Given the description of an element on the screen output the (x, y) to click on. 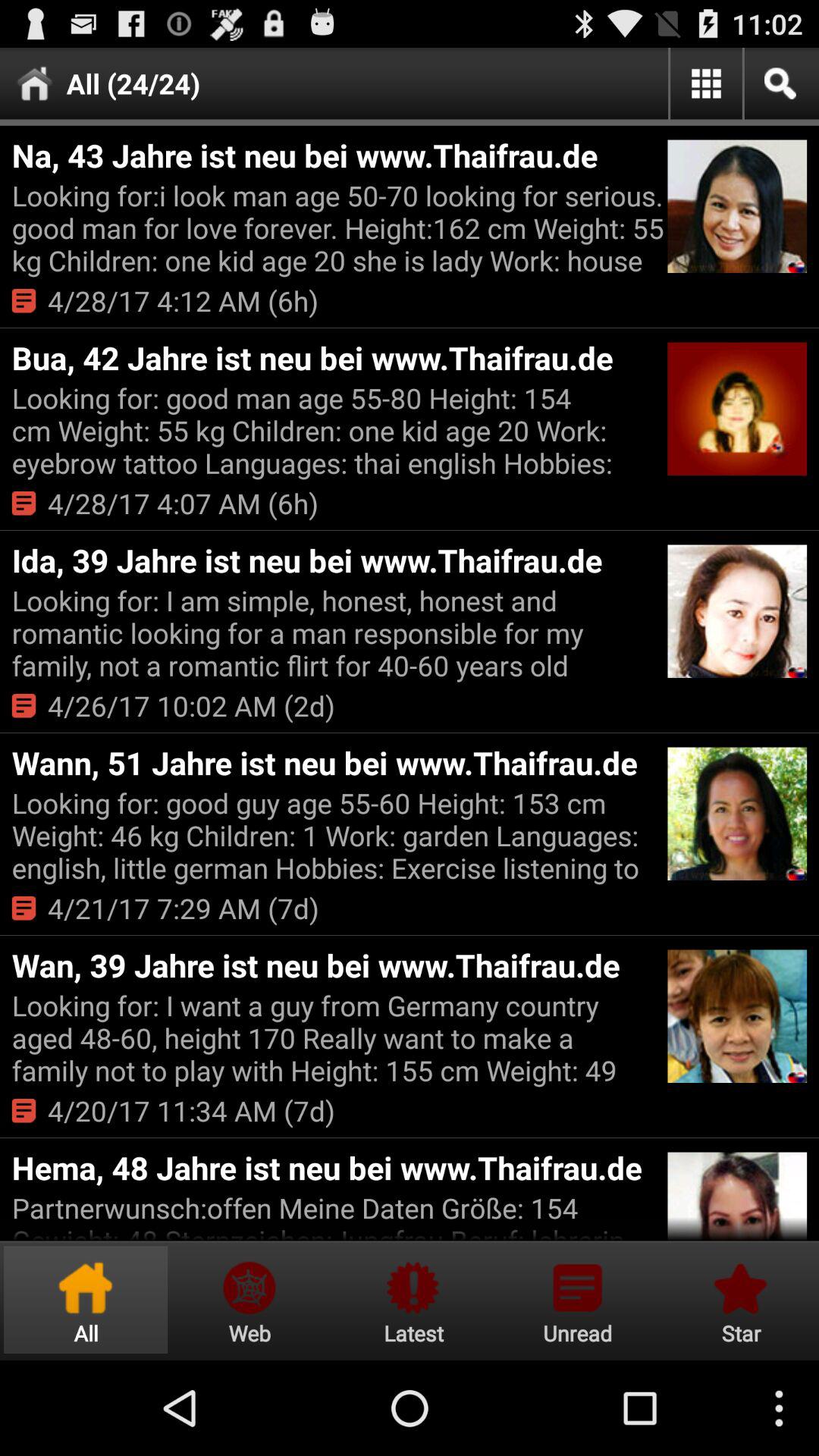
click na 43 jahre (337, 154)
